Given the description of an element on the screen output the (x, y) to click on. 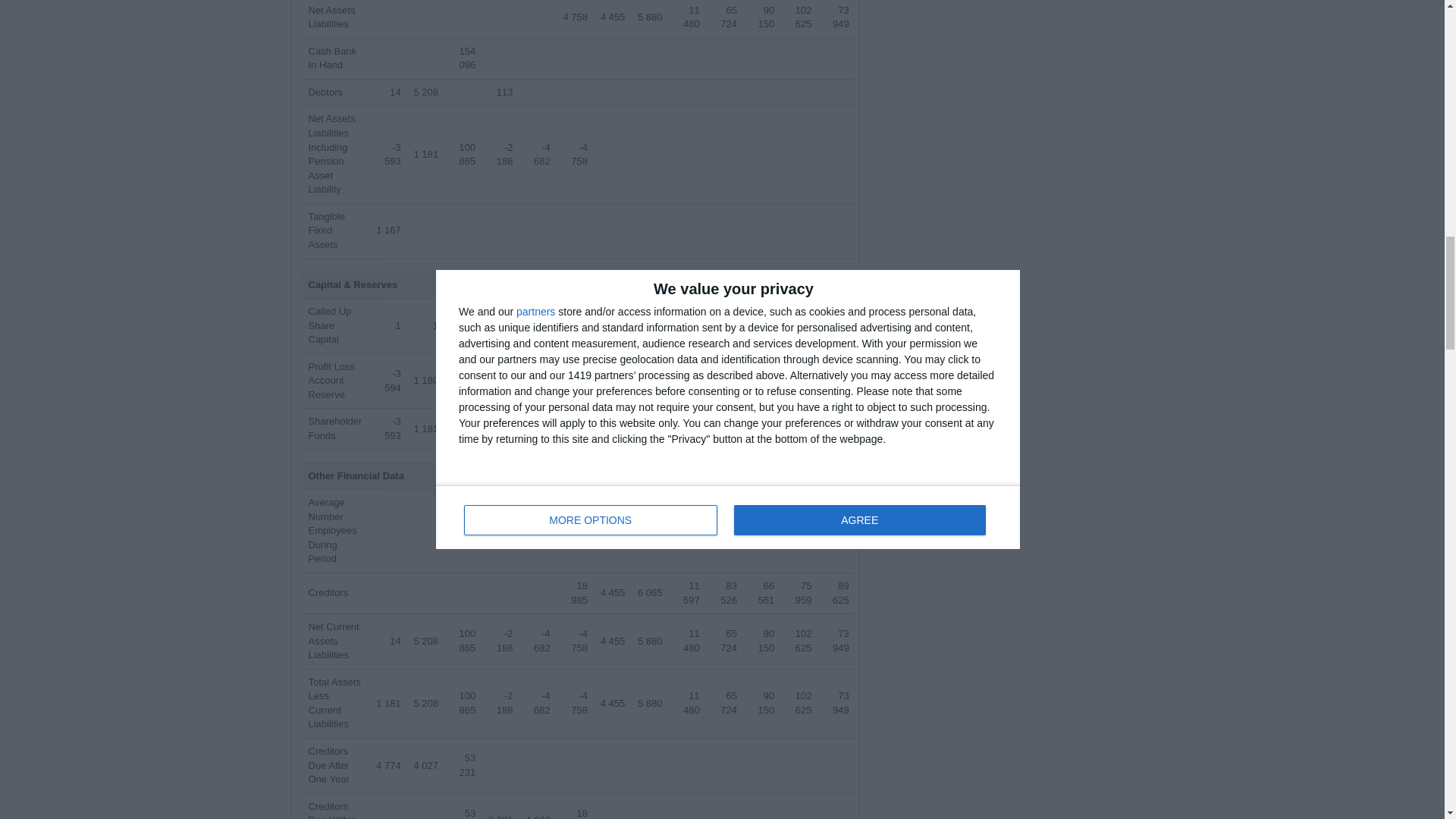
Money that other companies or people owe to the business (324, 91)
Held by a company in the form of notes and coins (331, 58)
NetAssetsLiabilities (331, 17)
